Given the description of an element on the screen output the (x, y) to click on. 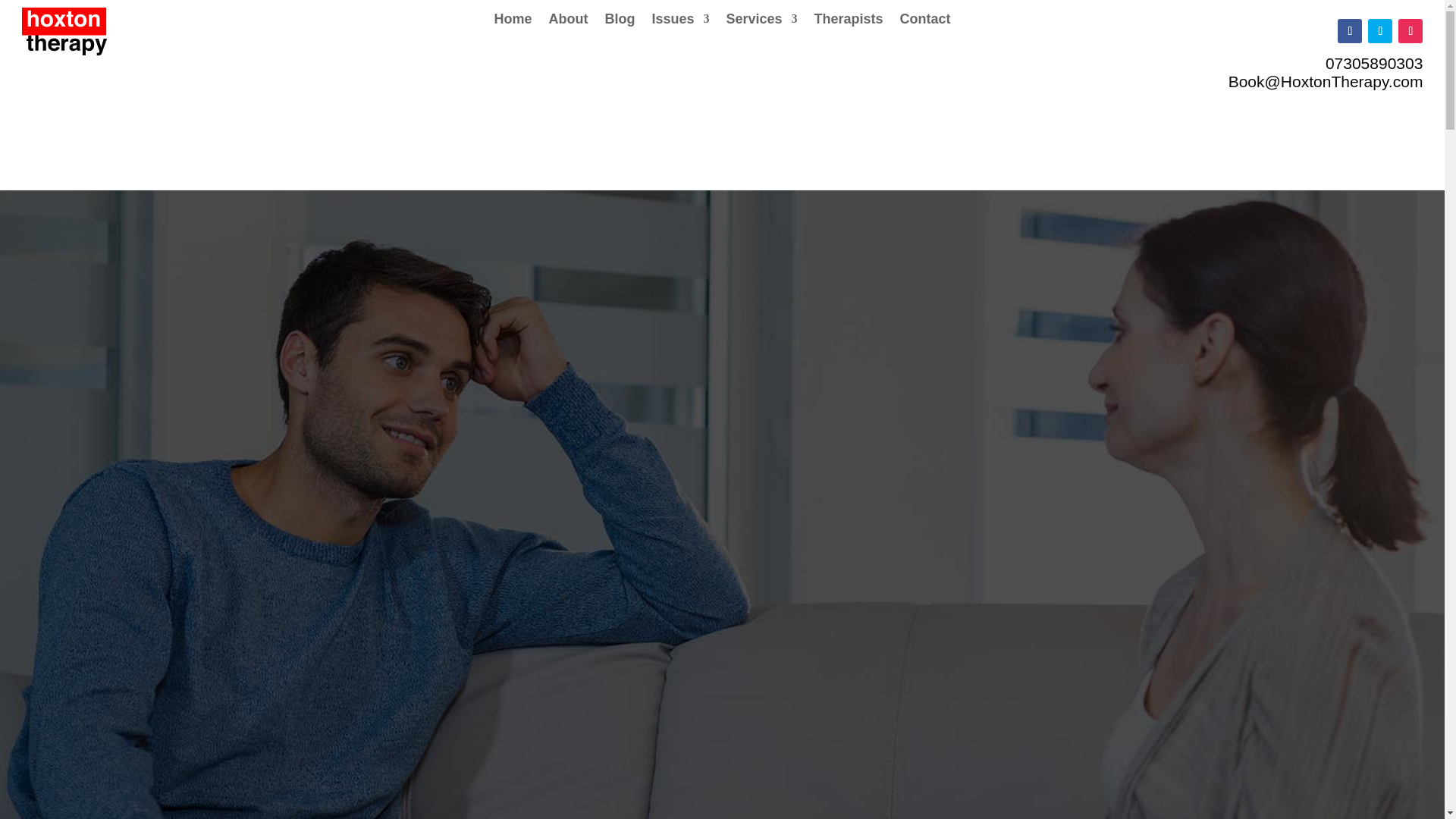
Follow on Twitter (1379, 30)
Blog (619, 21)
Services (760, 21)
Follow on Instagram (1409, 30)
Home (512, 21)
About (568, 21)
Follow on Facebook (1349, 30)
Issues (679, 21)
